Given the description of an element on the screen output the (x, y) to click on. 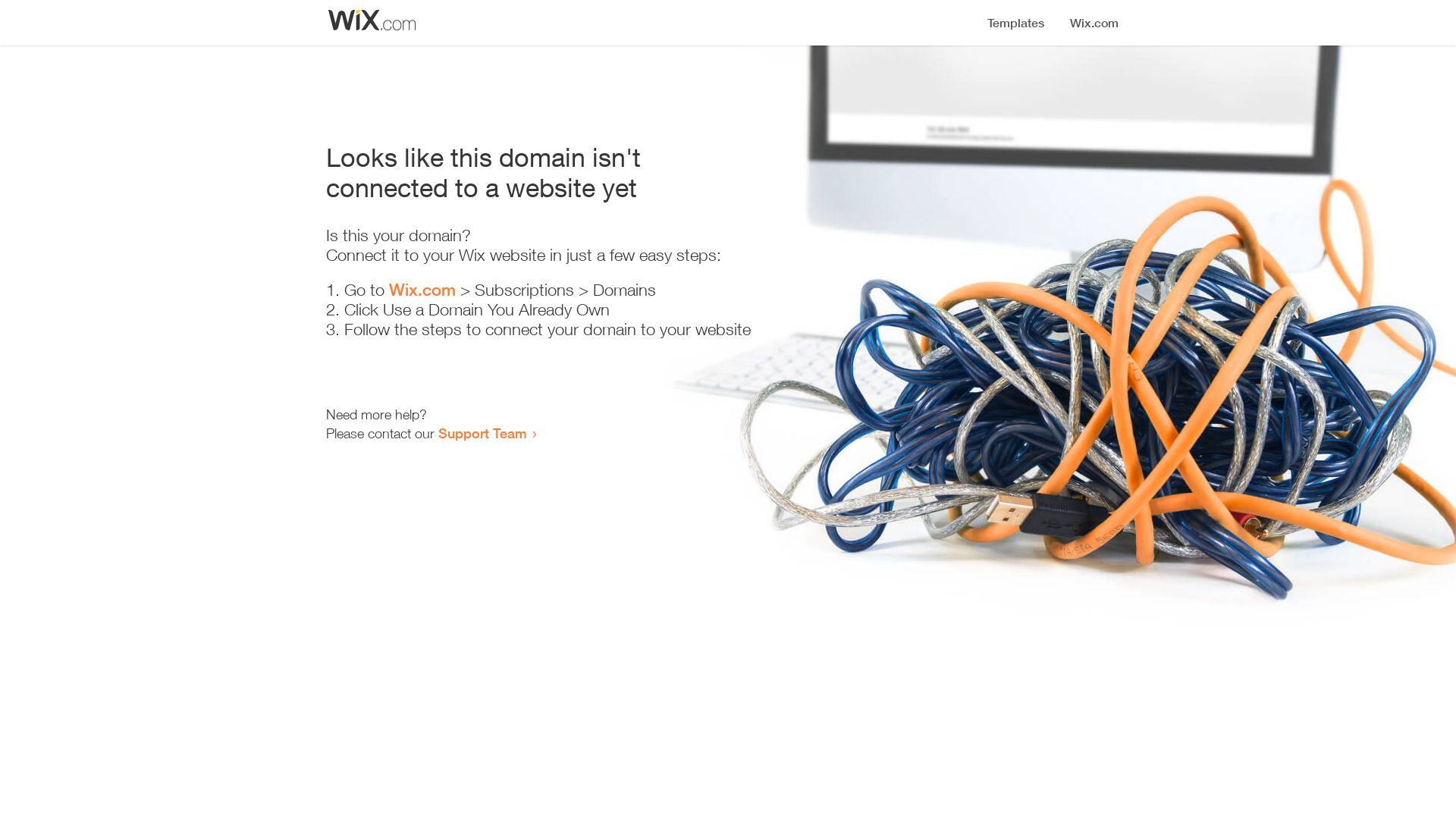
Wix.com Element type: text (422, 289)
Support Team Element type: text (482, 432)
